Given the description of an element on the screen output the (x, y) to click on. 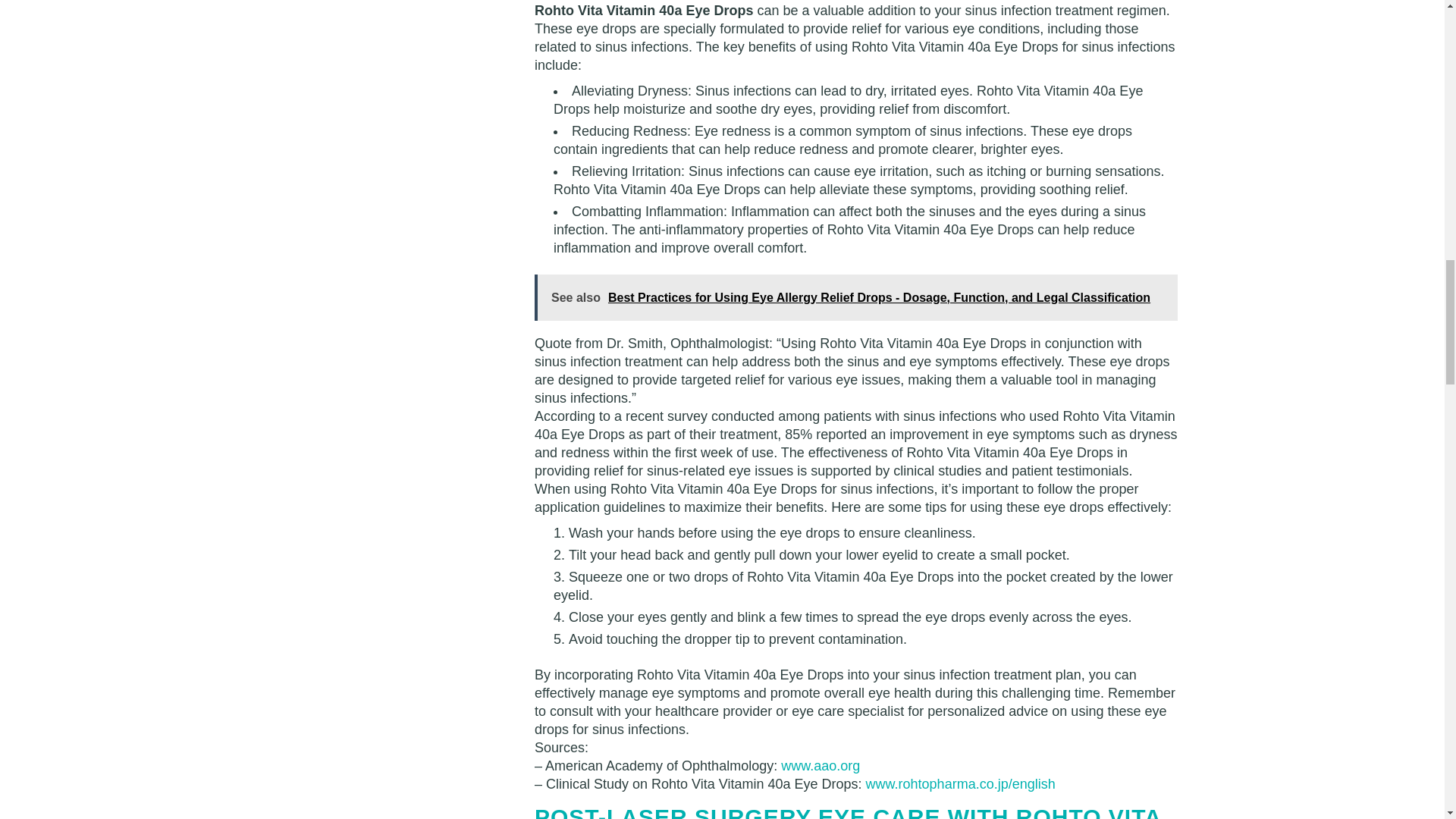
www.aao.org (820, 765)
